Given the description of an element on the screen output the (x, y) to click on. 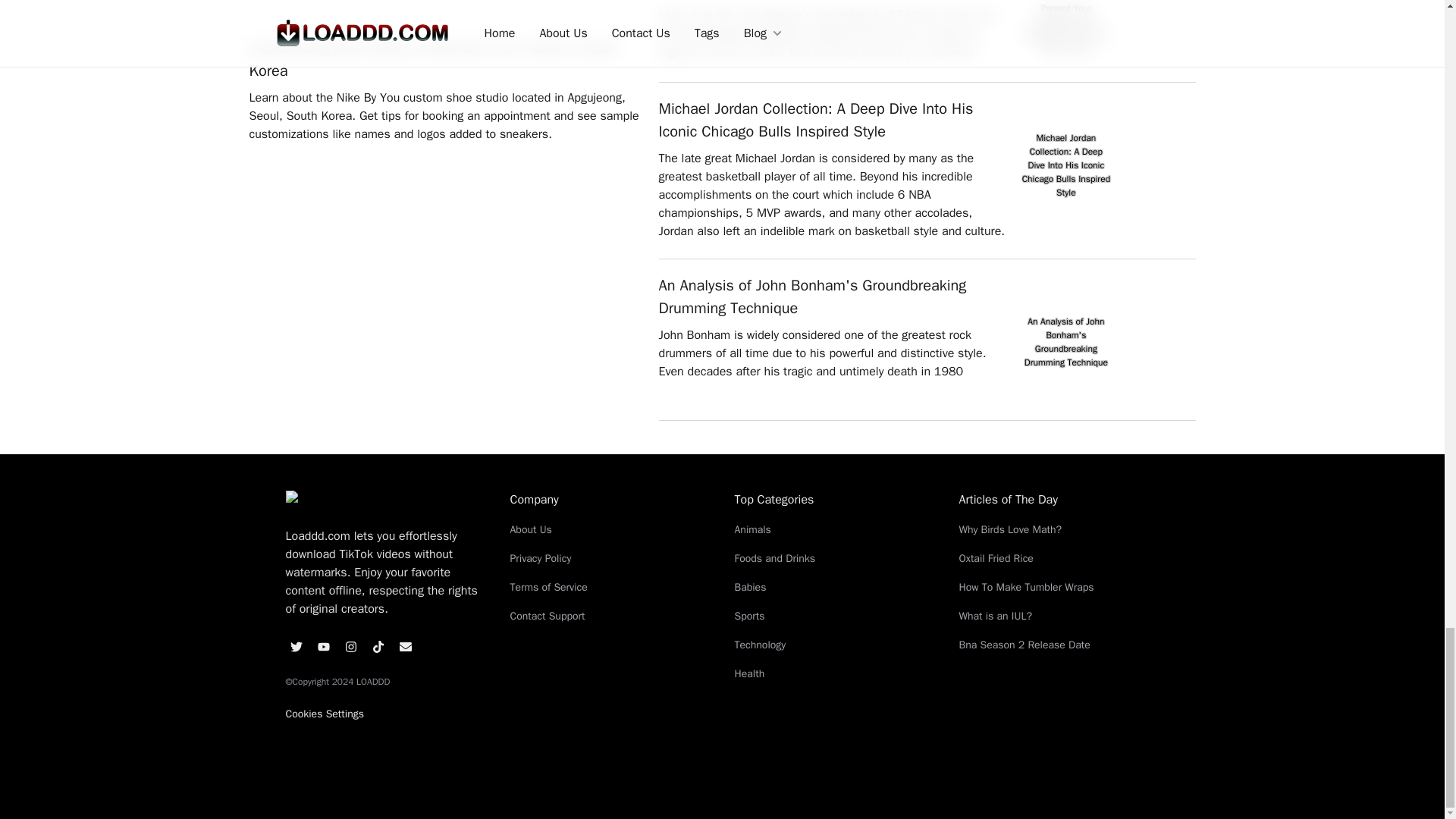
Terms of Service (609, 587)
Company (609, 499)
Instagram (350, 646)
Foods and Drinks (833, 558)
Email (404, 646)
YouTube (323, 646)
About Us (609, 529)
TikTok (377, 646)
Contact Support (609, 616)
Top Categories (833, 499)
Customizing Nike Shoes at Nike By You in Seoul, South Korea (445, 59)
Twitter (295, 646)
Privacy Policy (609, 558)
Babies (833, 587)
